Given the description of an element on the screen output the (x, y) to click on. 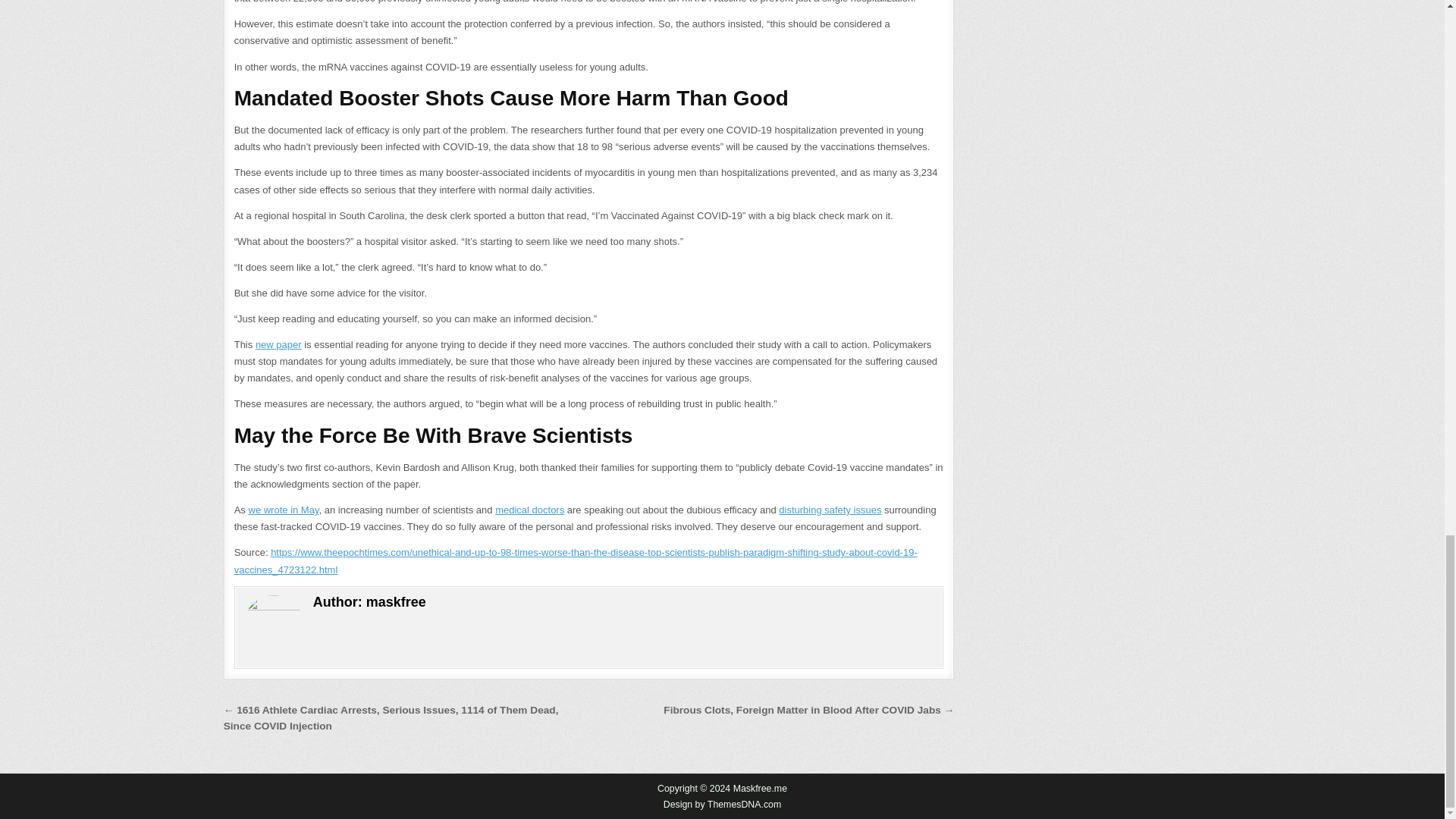
new paper (278, 344)
medical doctors (529, 509)
we wrote in May (283, 509)
maskfree (396, 601)
disturbing safety issues (829, 509)
